Given the description of an element on the screen output the (x, y) to click on. 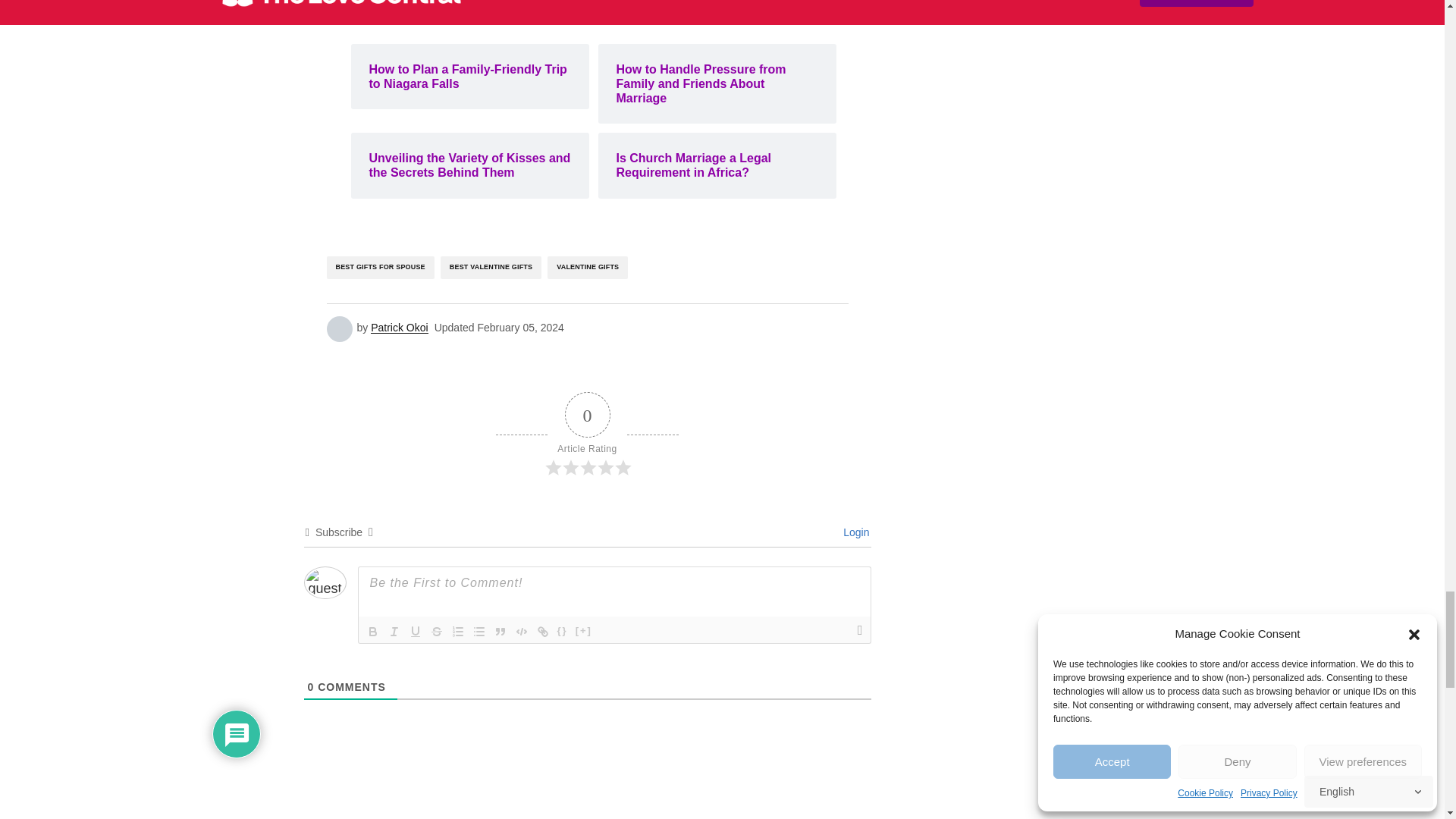
Bold (373, 631)
Underline (415, 631)
Italic (394, 631)
